Given the description of an element on the screen output the (x, y) to click on. 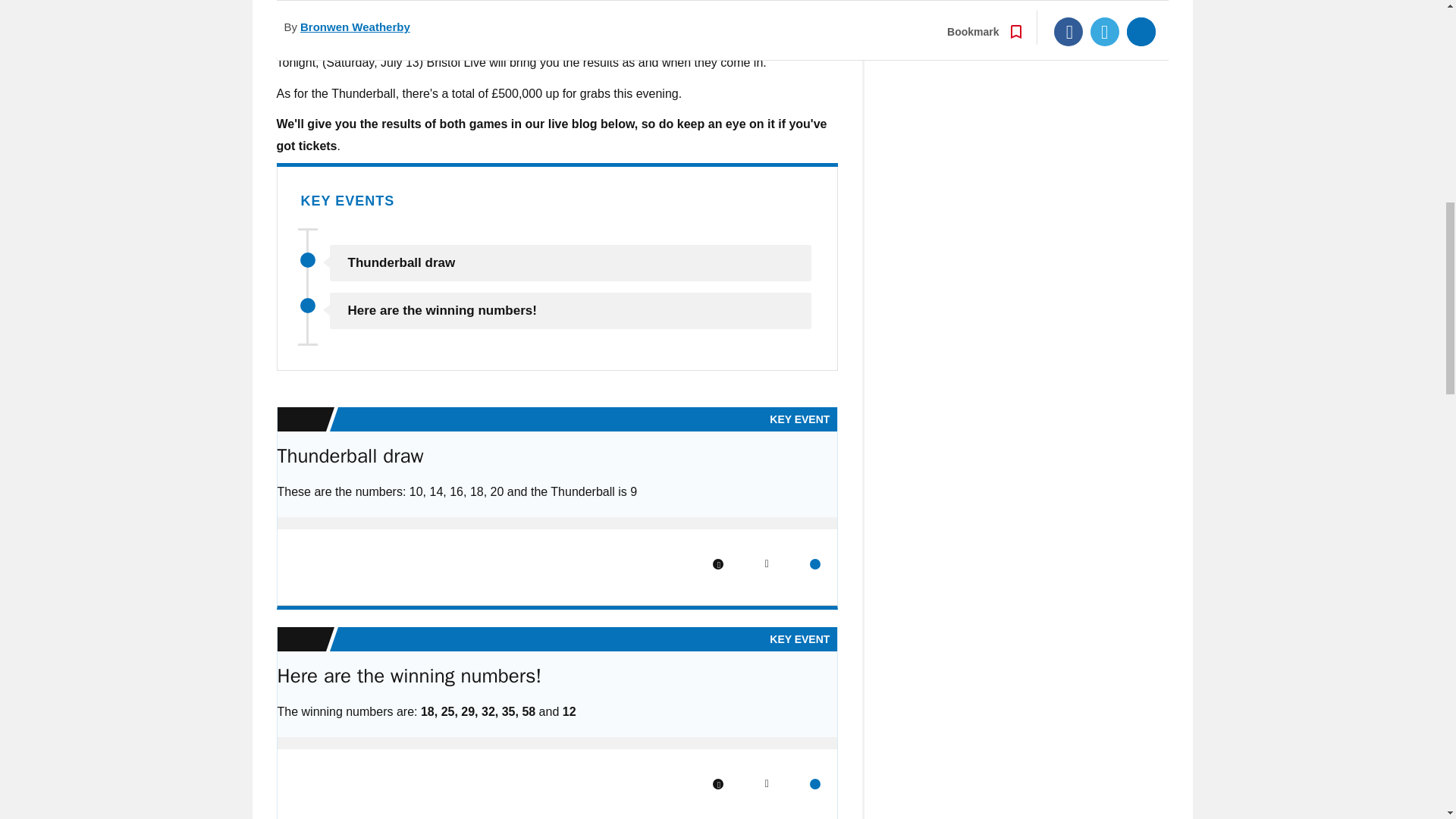
Twitter (766, 563)
Facebook (718, 783)
Twitter (766, 783)
Facebook (718, 563)
